Given the description of an element on the screen output the (x, y) to click on. 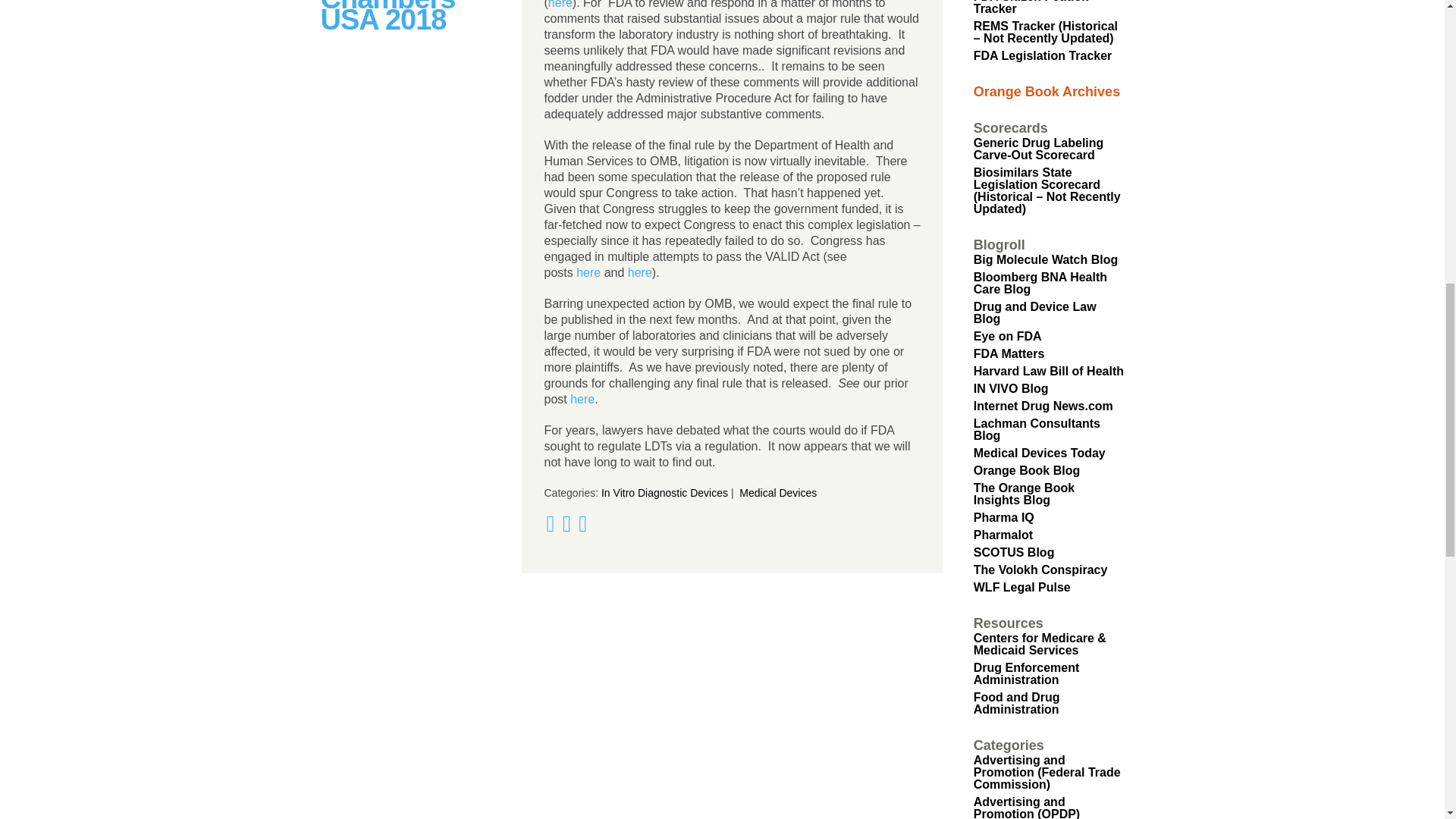
Harvard Law Bill of Health (1049, 370)
FDA Citizen Petition Tracker (1031, 7)
FDA Matters (1009, 353)
Medical Devices Today (1039, 452)
Internet Drug News.com (1043, 405)
Pharma IQ (1003, 517)
Generic Drug Labeling Carve-Out Scorecard (1038, 148)
Pharmalot (1003, 534)
IN VIVO Blog (1011, 388)
Eye on FDA (1008, 336)
